Given the description of an element on the screen output the (x, y) to click on. 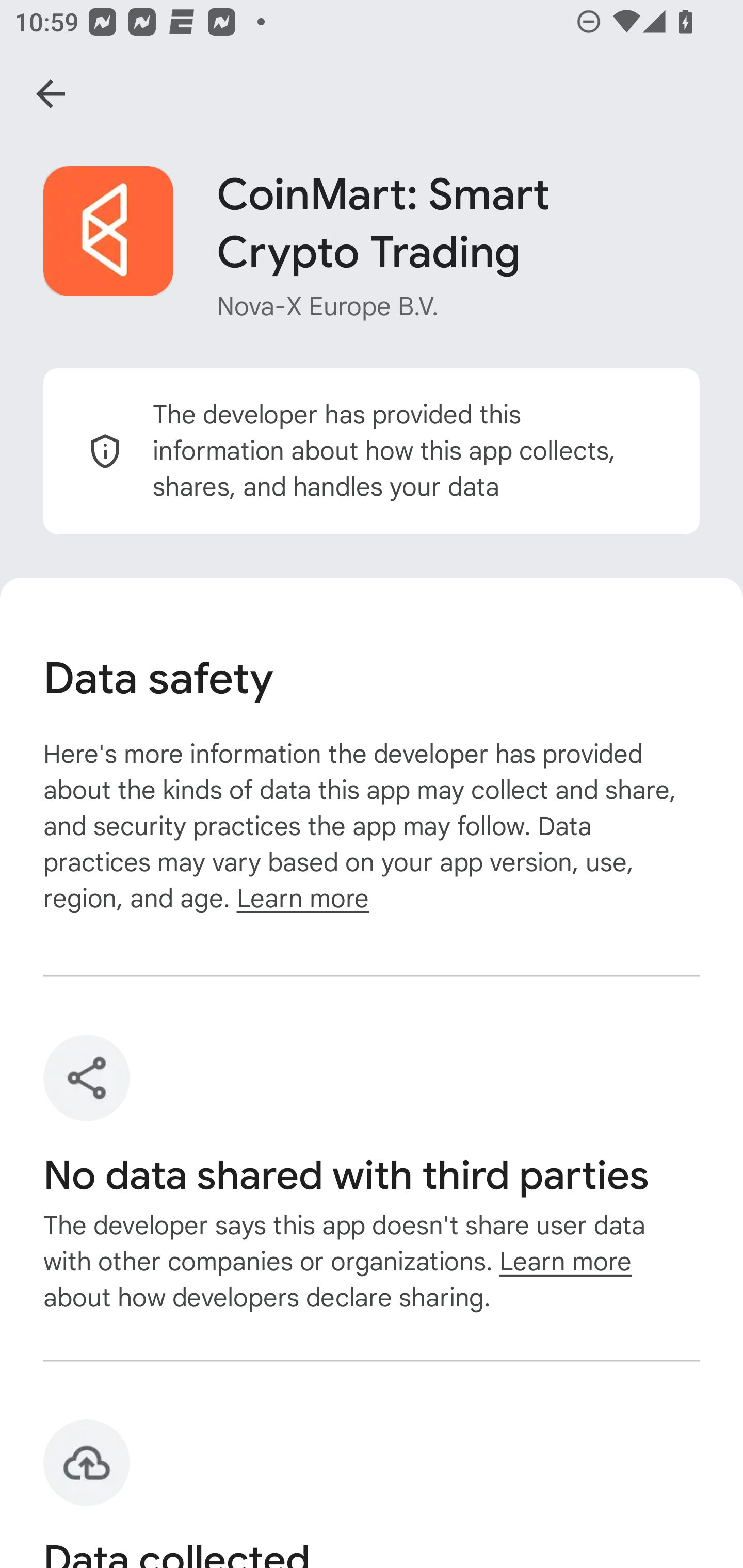
Navigate up (50, 93)
